Given the description of an element on the screen output the (x, y) to click on. 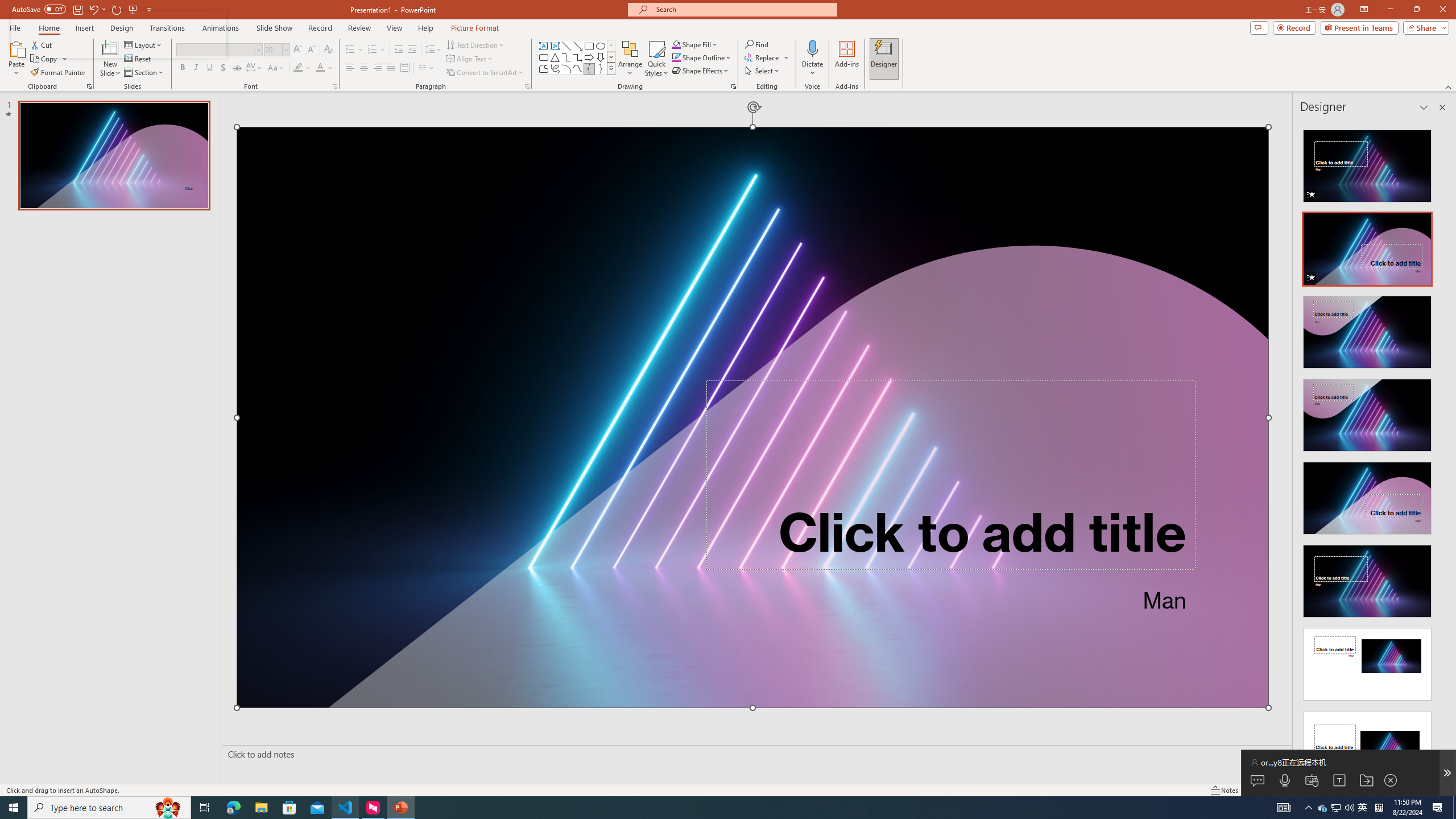
Freeform: Scribble (554, 68)
Minimize (1390, 9)
Character Spacing (254, 67)
Normal (1260, 790)
Font Size (273, 49)
Text Highlight Color Yellow (297, 67)
